Given the description of an element on the screen output the (x, y) to click on. 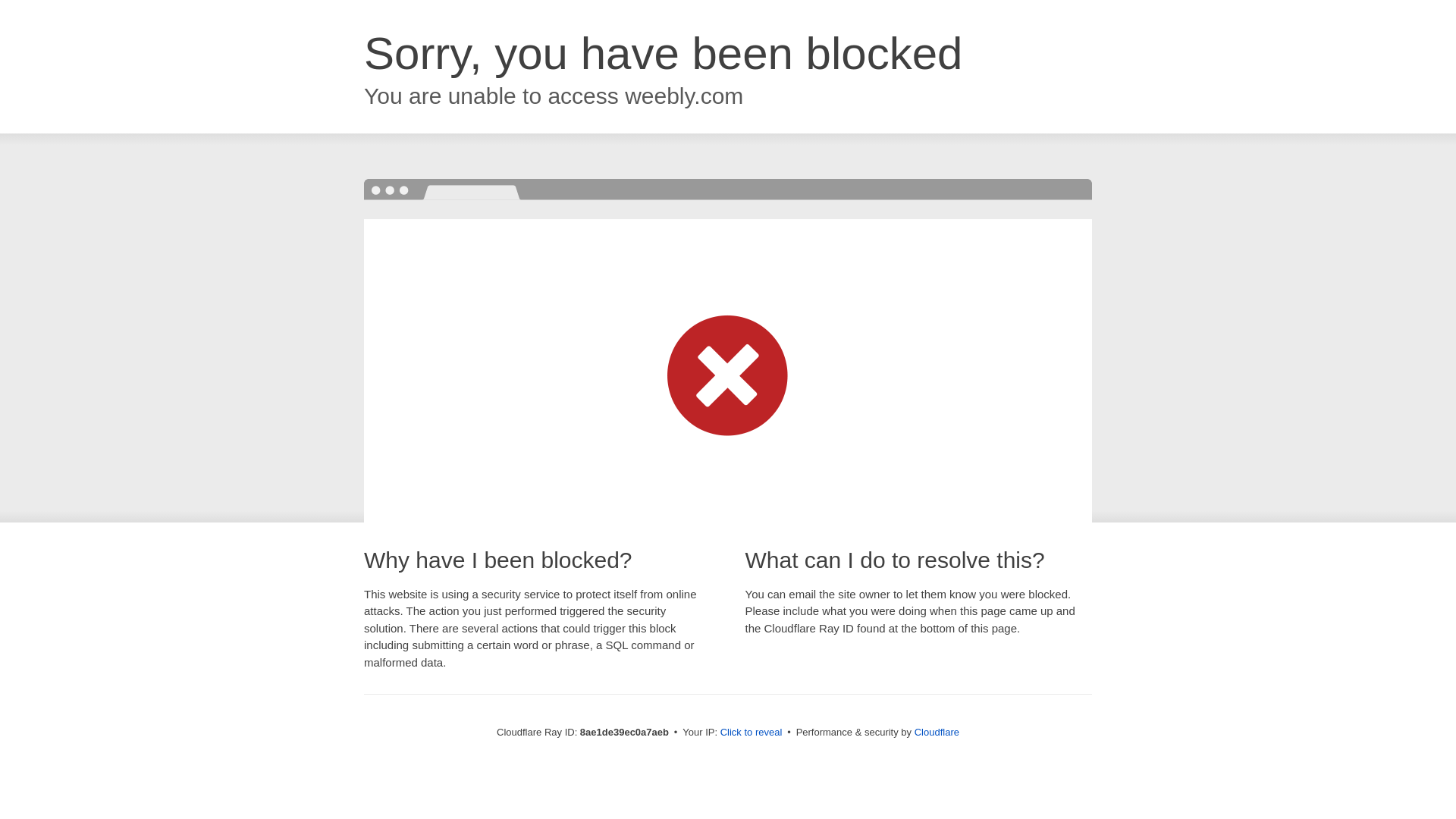
Click to reveal (751, 732)
Cloudflare (936, 731)
